Given the description of an element on the screen output the (x, y) to click on. 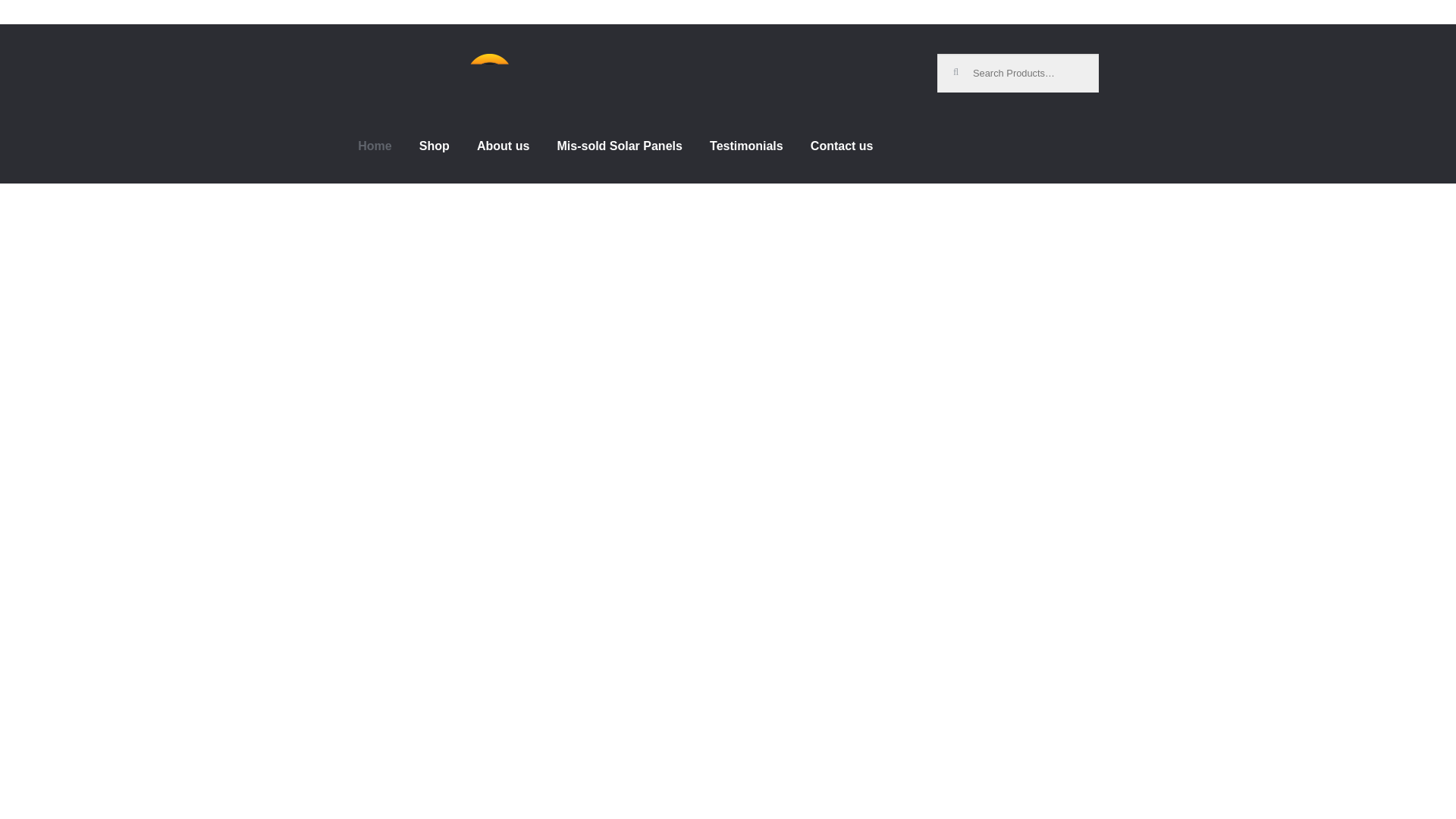
Skip to content (397, 63)
Search (963, 65)
Skip to navigation (405, 63)
Search (963, 65)
